Given the description of an element on the screen output the (x, y) to click on. 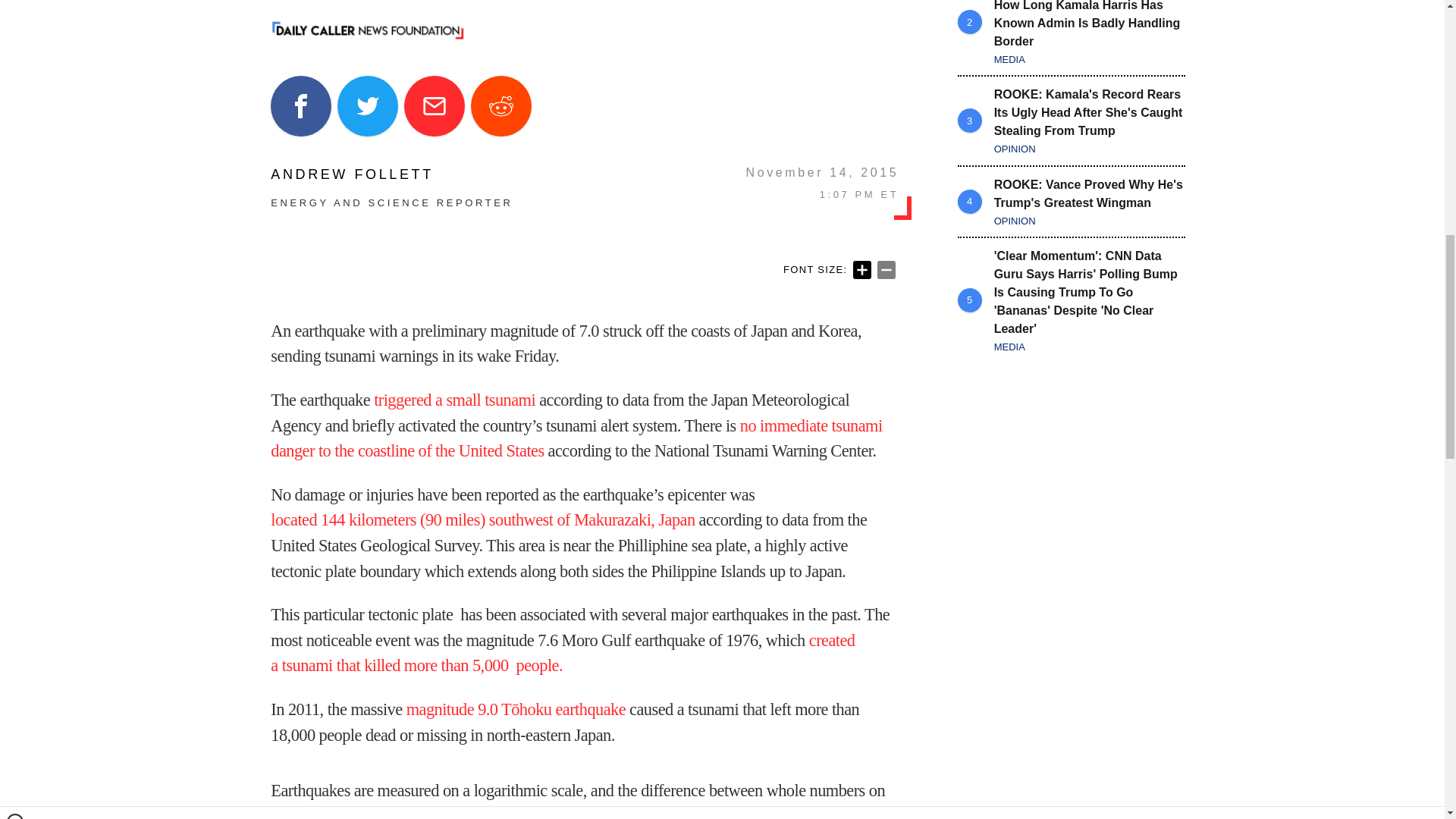
Close window (14, 6)
ANDREW FOLLETT (391, 174)
triggered a small tsunami (454, 399)
View More Articles By Andrew Follett (391, 174)
